Given the description of an element on the screen output the (x, y) to click on. 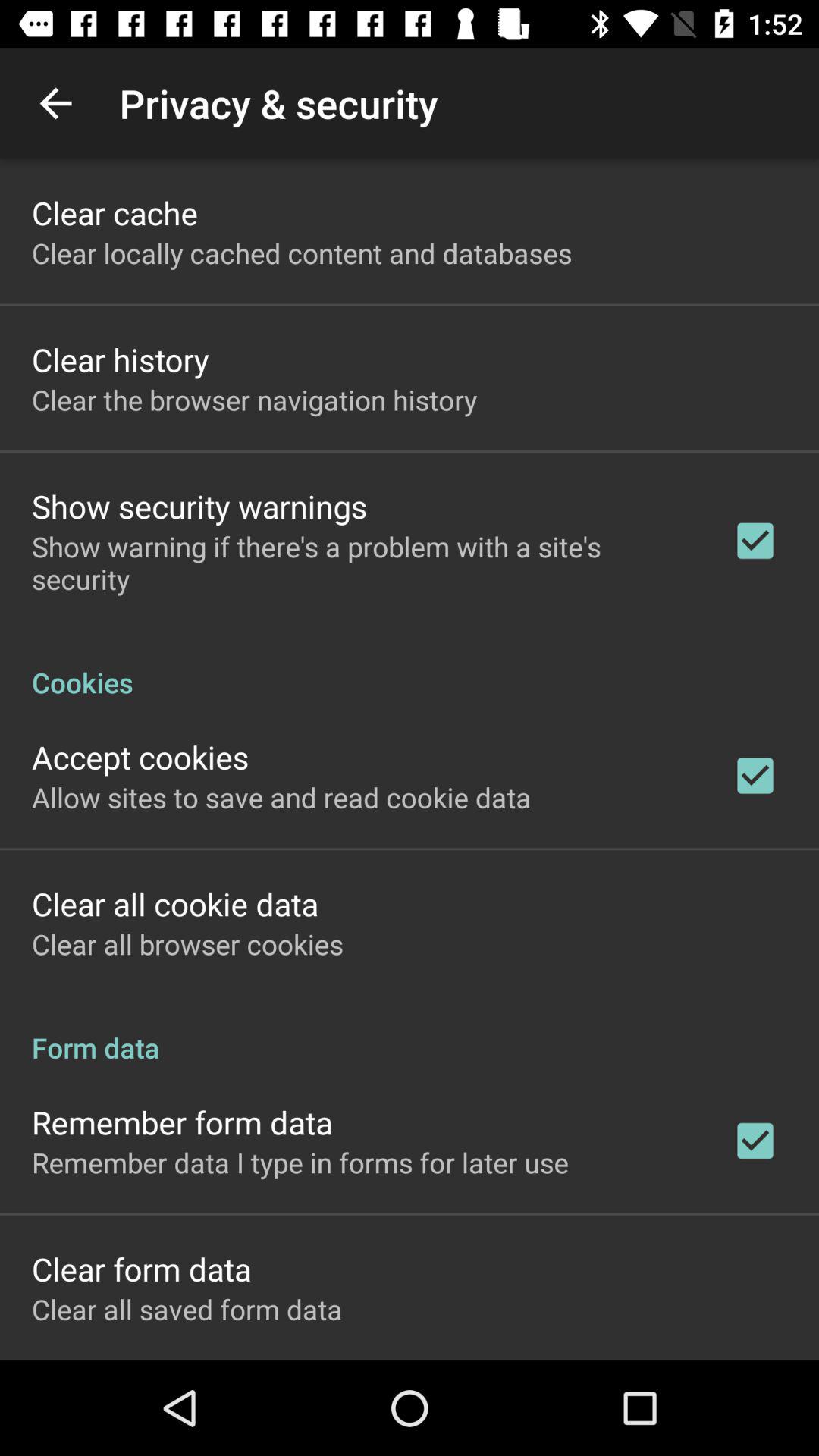
scroll until the allow sites to icon (281, 797)
